Given the description of an element on the screen output the (x, y) to click on. 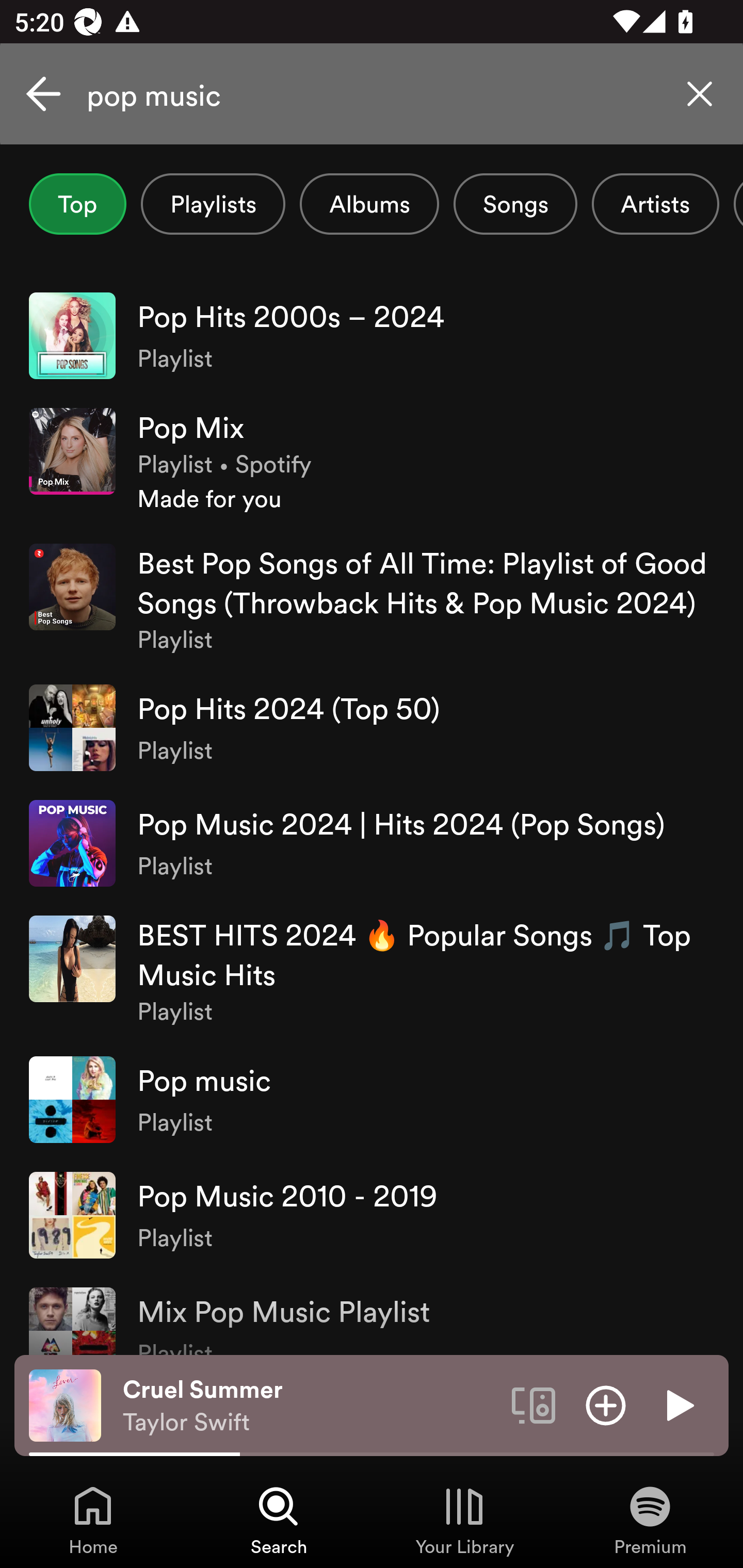
pop music (371, 93)
Cancel (43, 93)
Clear search query (699, 93)
Top (77, 203)
Playlists (213, 203)
Albums (369, 203)
Songs (515, 203)
Artists (655, 203)
Pop Hits 2000s – 2024 Playlist (371, 335)
Pop Mix Playlist • Spotify Made for you (371, 461)
Pop Hits 2024 (Top 50) Playlist (371, 727)
Pop Music 2024 | Hits 2024 (Pop Songs) Playlist (371, 843)
Pop music Playlist (371, 1099)
Pop Music 2010 - 2019 Playlist (371, 1215)
Mix Pop Music Playlist Playlist (371, 1313)
Cruel Summer Taylor Swift (309, 1405)
The cover art of the currently playing track (64, 1404)
Connect to a device. Opens the devices menu (533, 1404)
Add item (605, 1404)
Play (677, 1404)
Home, Tab 1 of 4 Home Home (92, 1519)
Search, Tab 2 of 4 Search Search (278, 1519)
Your Library, Tab 3 of 4 Your Library Your Library (464, 1519)
Premium, Tab 4 of 4 Premium Premium (650, 1519)
